Given the description of an element on the screen output the (x, y) to click on. 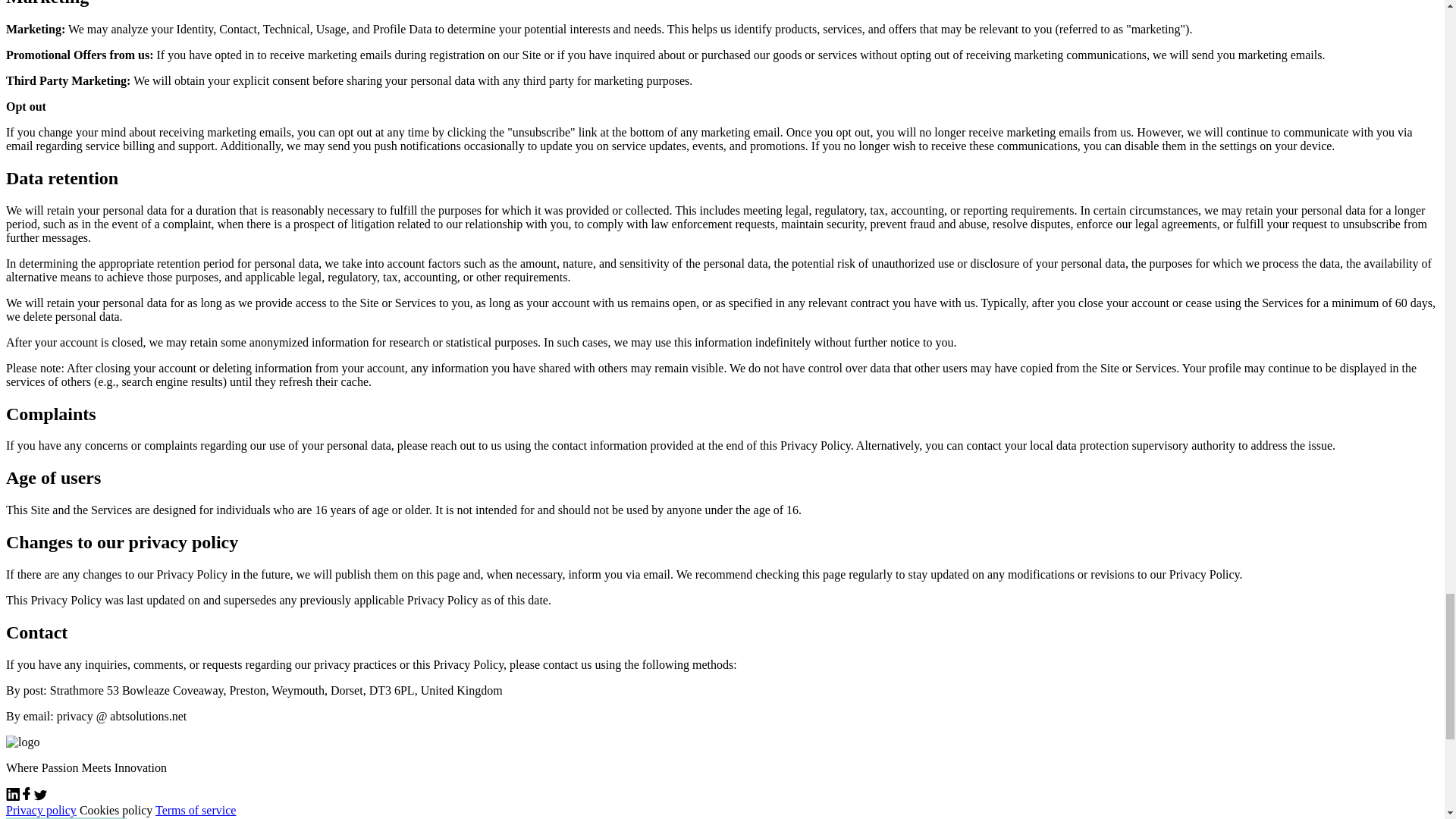
Terms of service (195, 809)
Privacy policy (41, 809)
Cookies policy (116, 809)
